Given the description of an element on the screen output the (x, y) to click on. 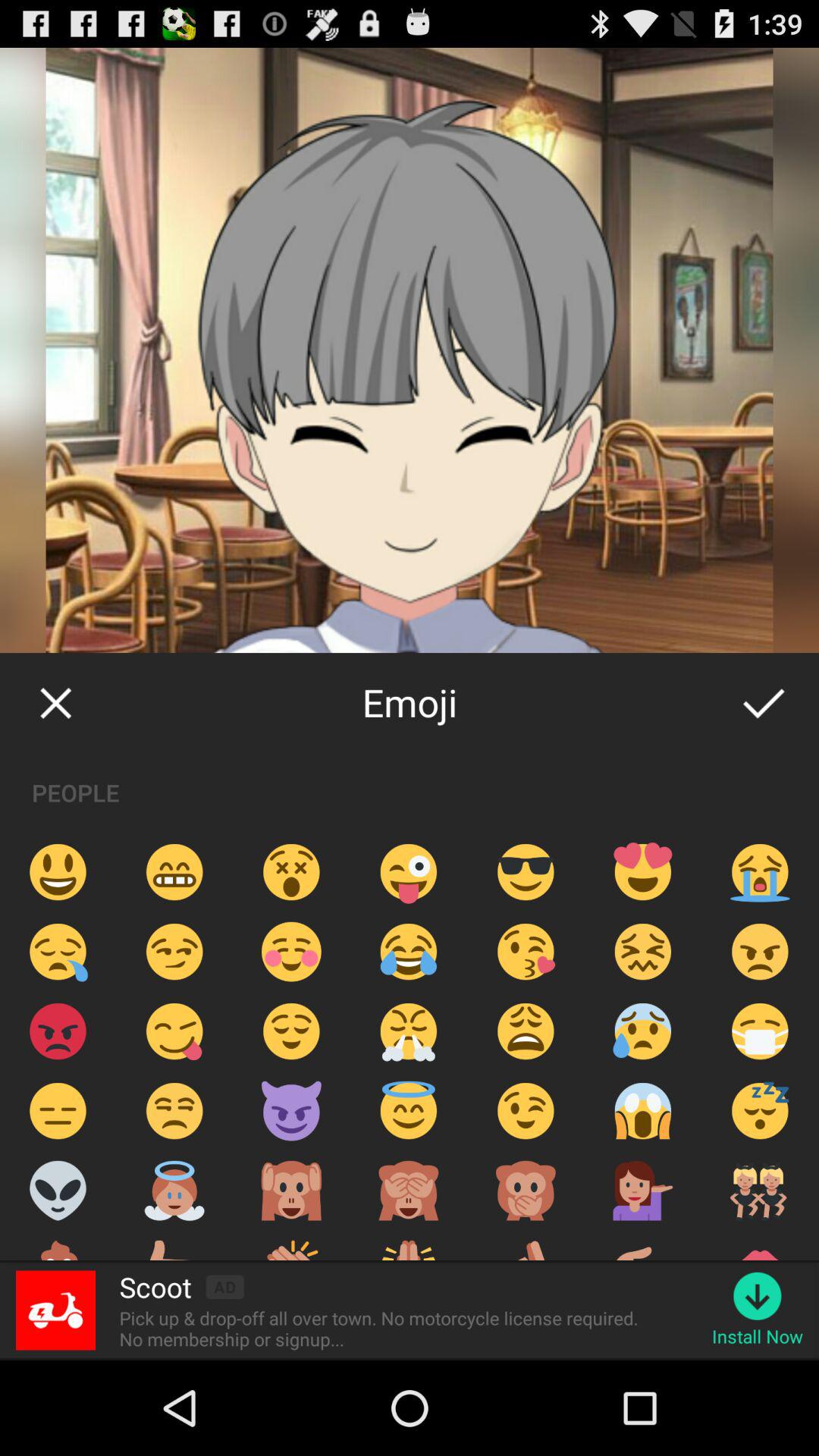
choose item next to the pick up drop icon (757, 1336)
